Given the description of an element on the screen output the (x, y) to click on. 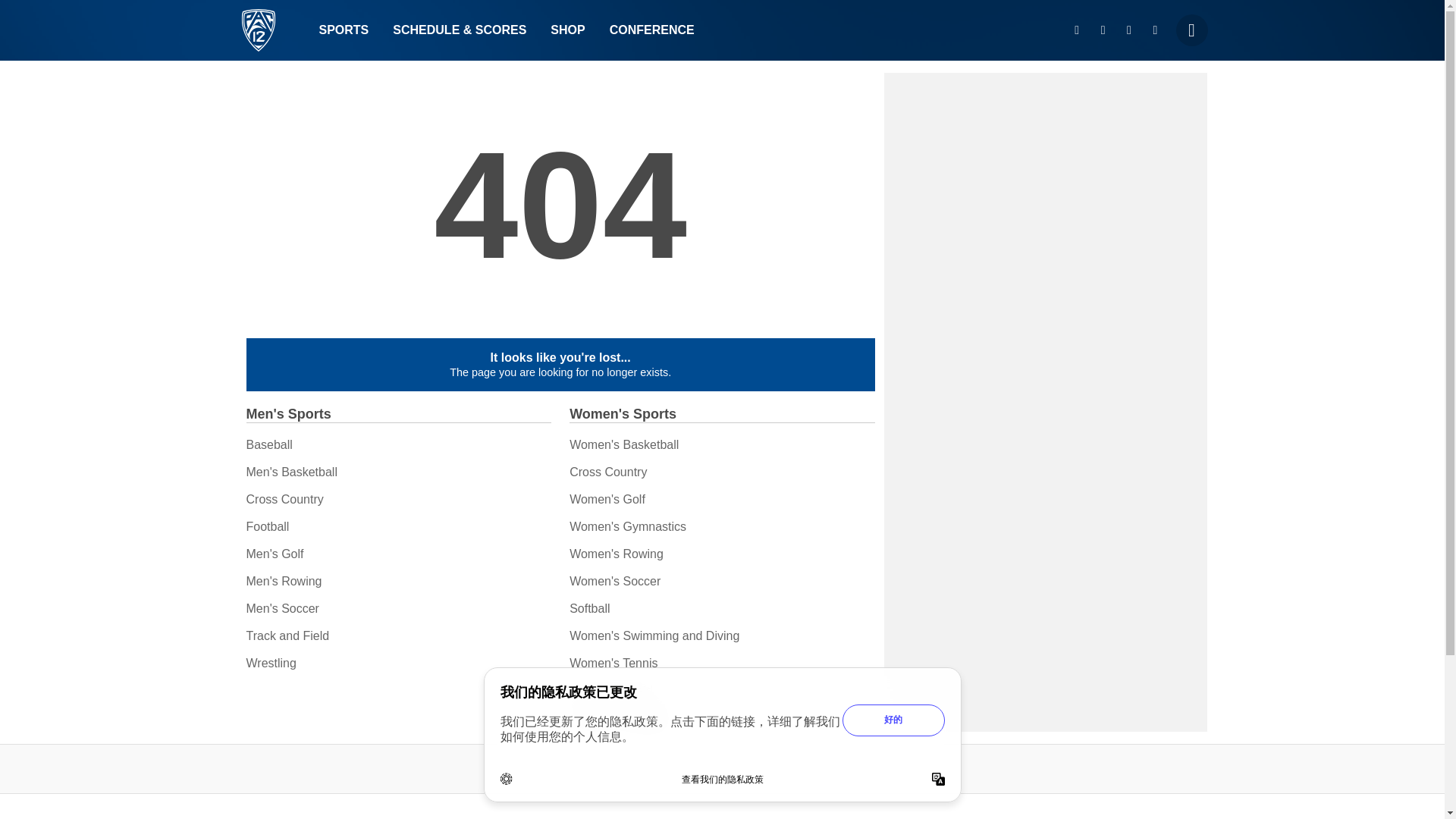
SHOP (567, 30)
TikTok (1155, 29)
Facebook (1129, 29)
CONFERENCE (651, 30)
Twitter (1102, 29)
SPORTS (342, 30)
Instagram (1076, 29)
